Given the description of an element on the screen output the (x, y) to click on. 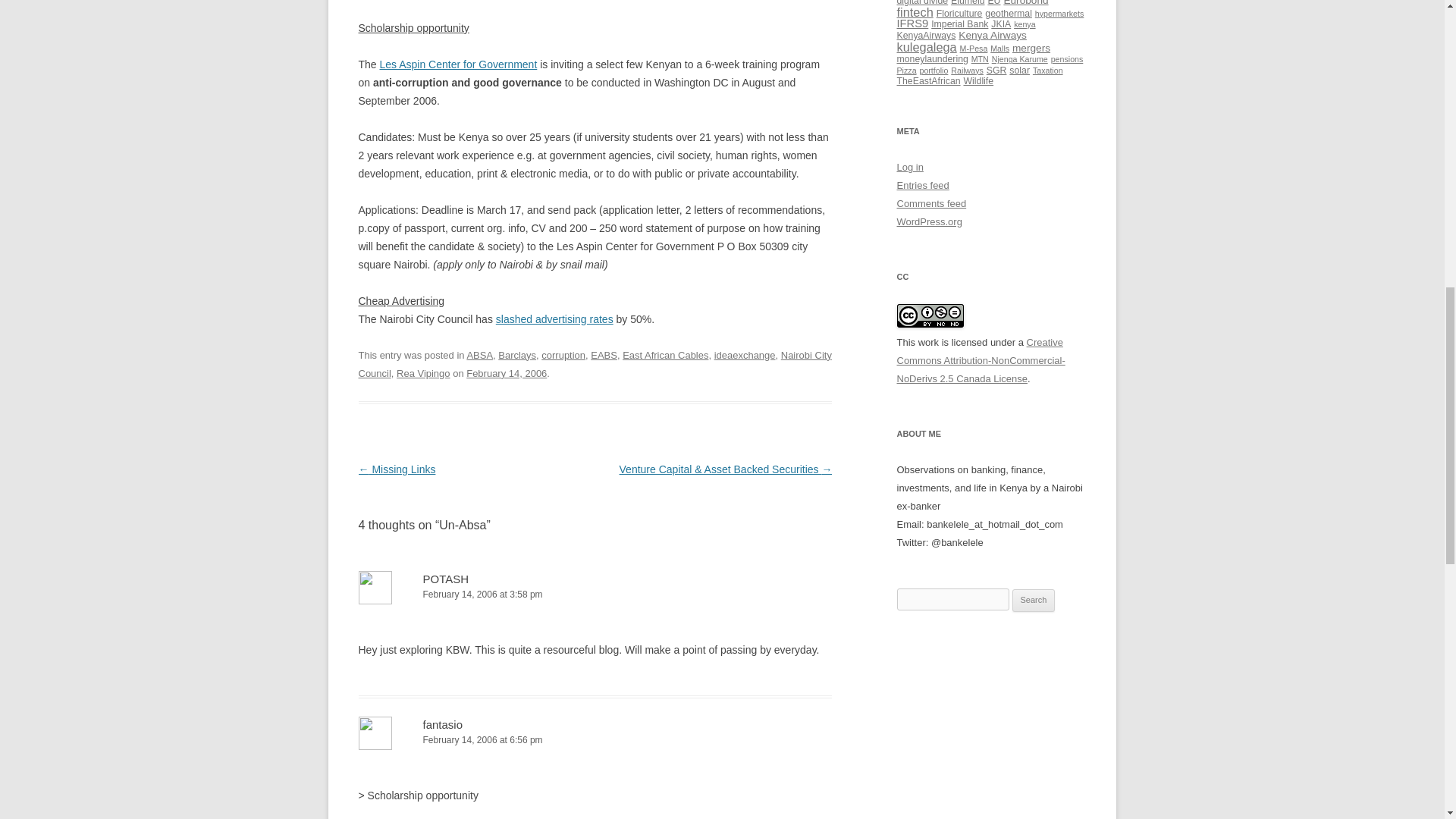
3:18 pm (506, 373)
Search (1033, 599)
slashed advertising rates (554, 318)
Barclays (516, 355)
February 14, 2006 (506, 373)
ideaexchange (745, 355)
Nairobi City Council (594, 364)
Rea Vipingo (422, 373)
EABS (604, 355)
February 14, 2006 at 3:58 pm (594, 594)
